Given the description of an element on the screen output the (x, y) to click on. 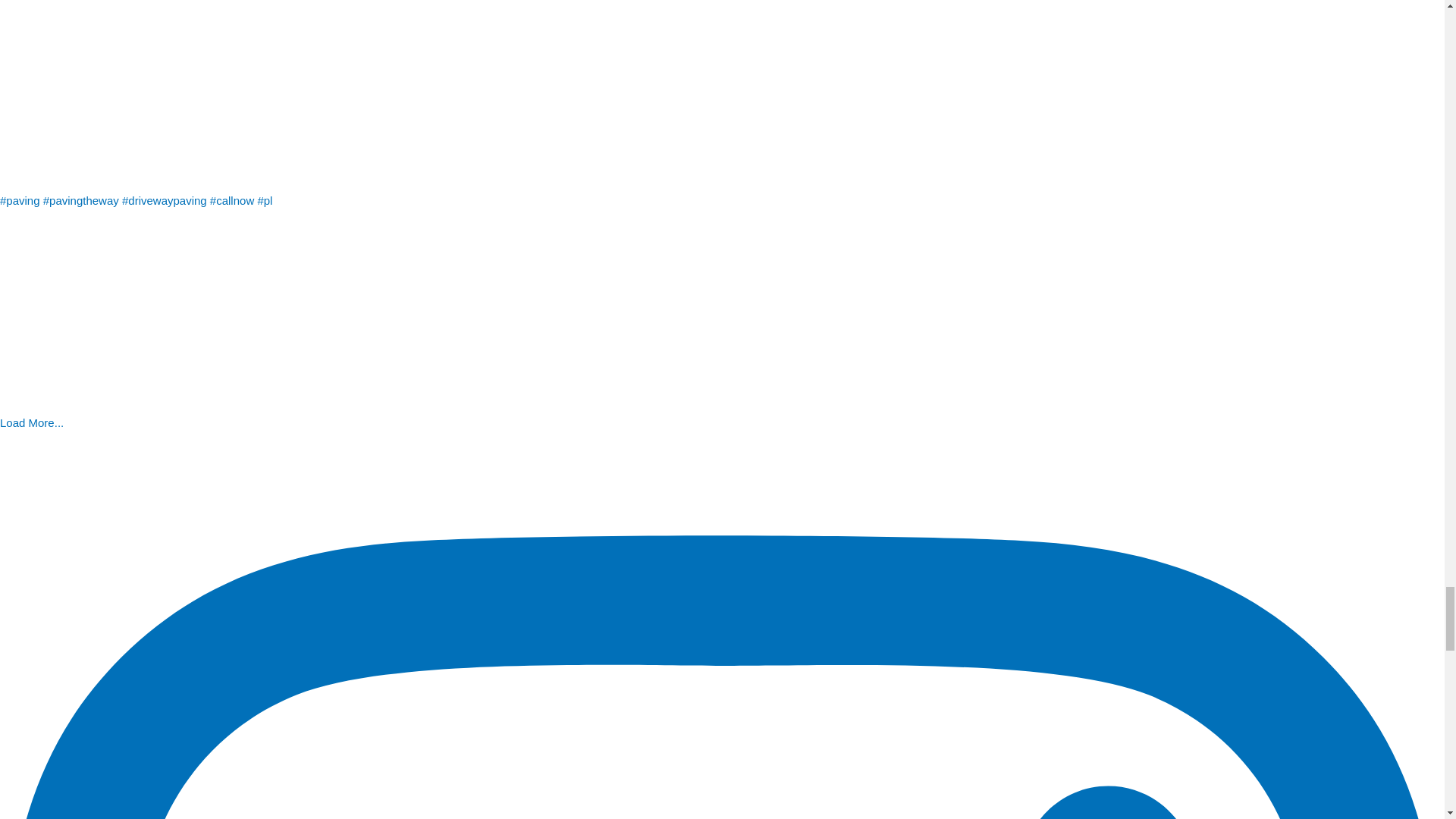
Load More... (32, 422)
